Given the description of an element on the screen output the (x, y) to click on. 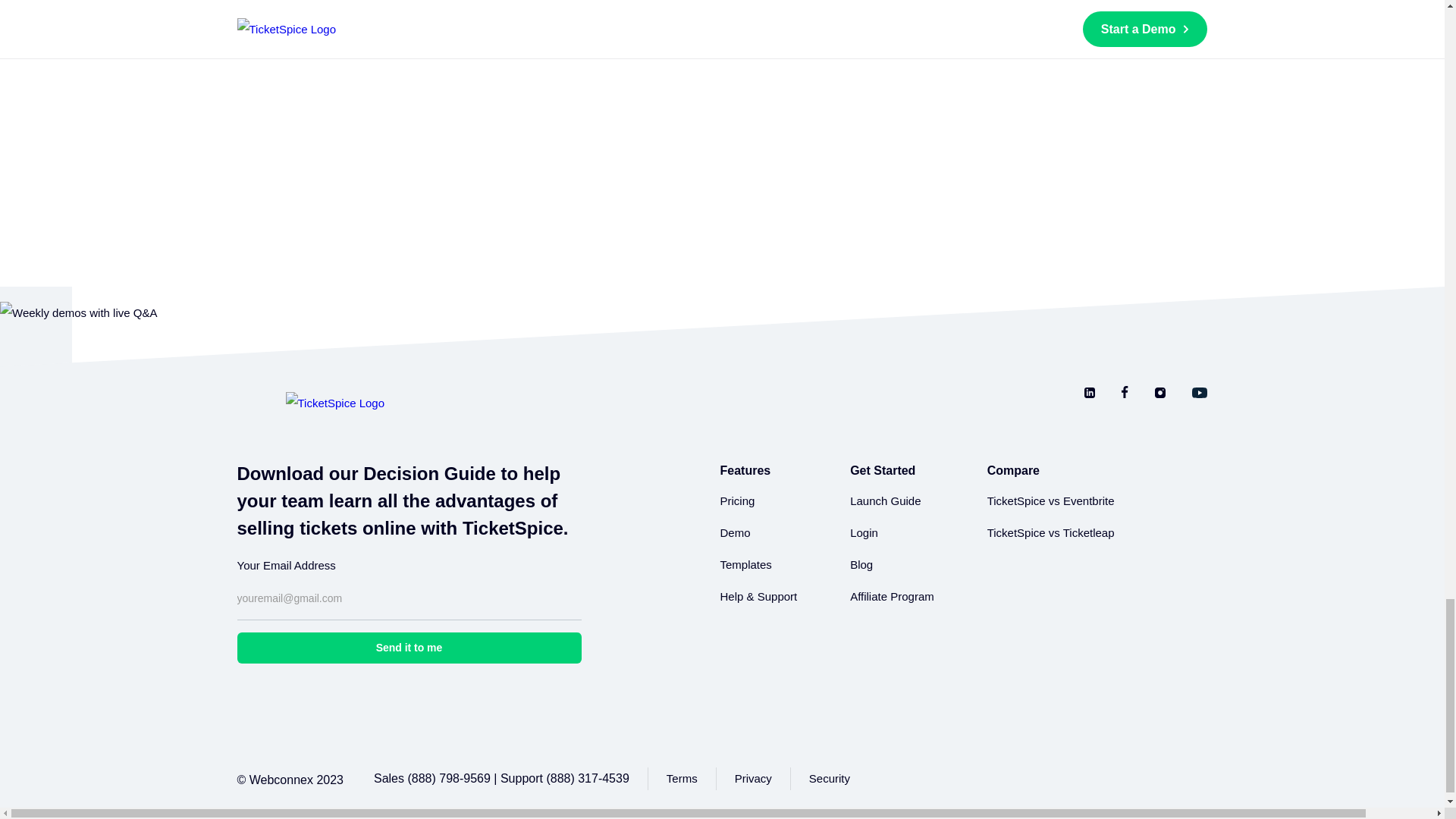
Send it to me (407, 647)
